Given the description of an element on the screen output the (x, y) to click on. 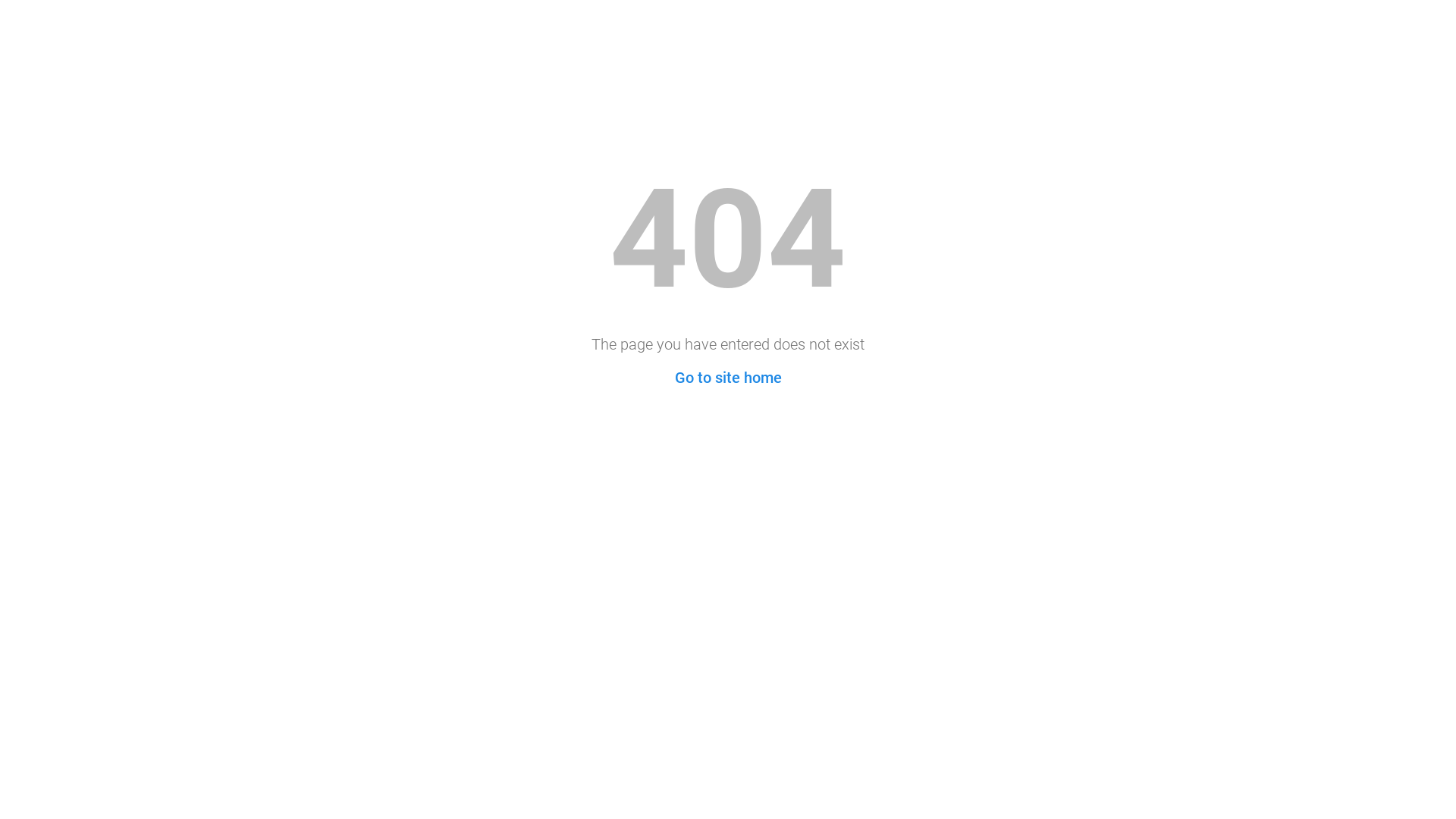
Go to site home Element type: text (727, 377)
